Given the description of an element on the screen output the (x, y) to click on. 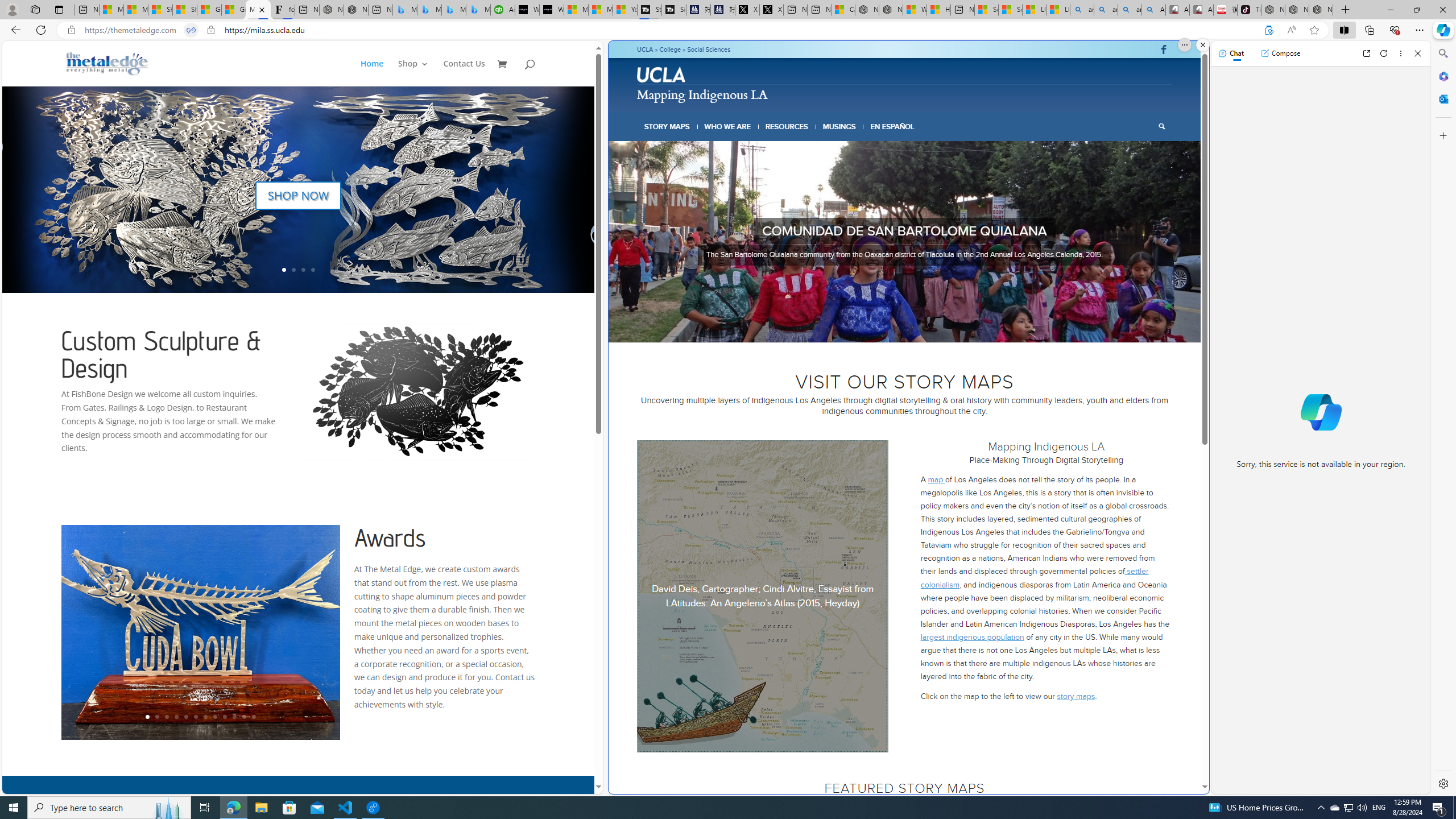
Amazon Echo Robot - Search Images (1153, 9)
SHOP NOW 5 (298, 214)
MUSINGS (839, 126)
Accounting Software for Accountants, CPAs and Bookkeepers (502, 9)
UCLA logo (662, 76)
Shop 3 (413, 72)
Metal Fish Sculptures & Metal Designs (106, 63)
WHO WE ARE (727, 126)
